Given the description of an element on the screen output the (x, y) to click on. 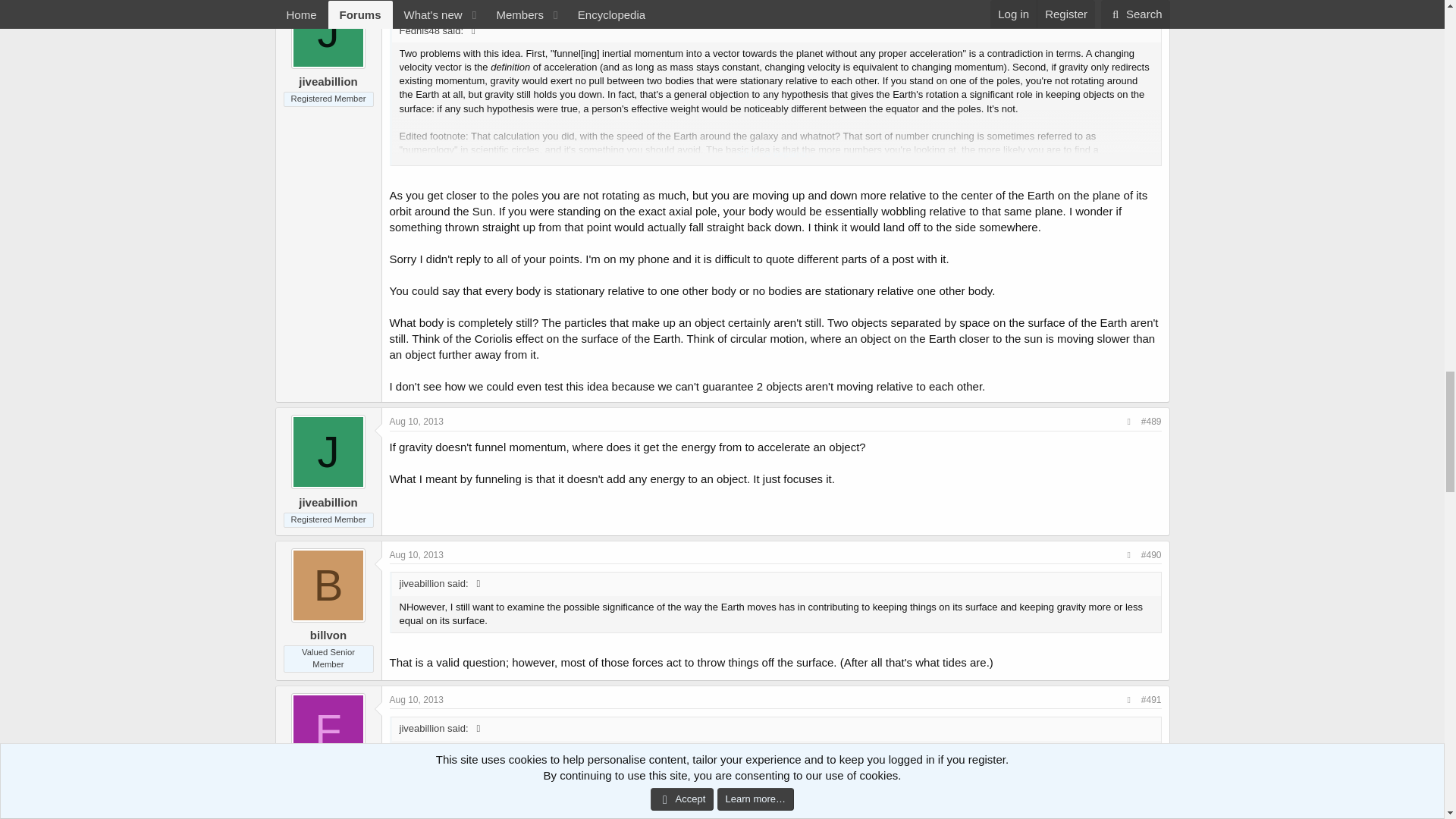
Aug 10, 2013 at 8:18 PM (417, 421)
Aug 10, 2013 at 8:53 PM (417, 554)
Aug 10, 2013 at 8:14 PM (417, 3)
